Given the description of an element on the screen output the (x, y) to click on. 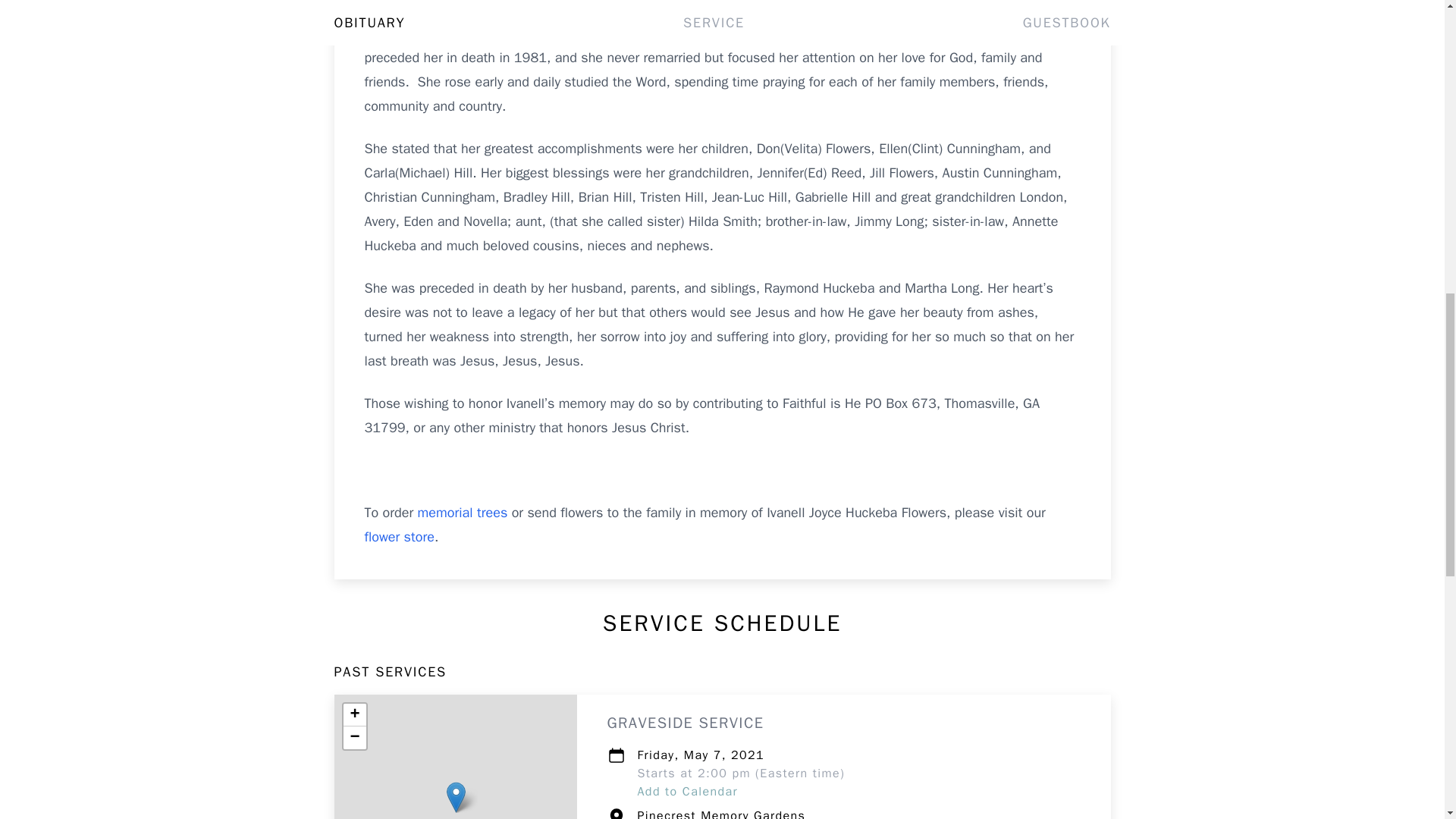
Zoom out (353, 737)
memorial trees (462, 512)
flower store (398, 536)
Add to Calendar (687, 791)
Zoom in (353, 714)
